Given the description of an element on the screen output the (x, y) to click on. 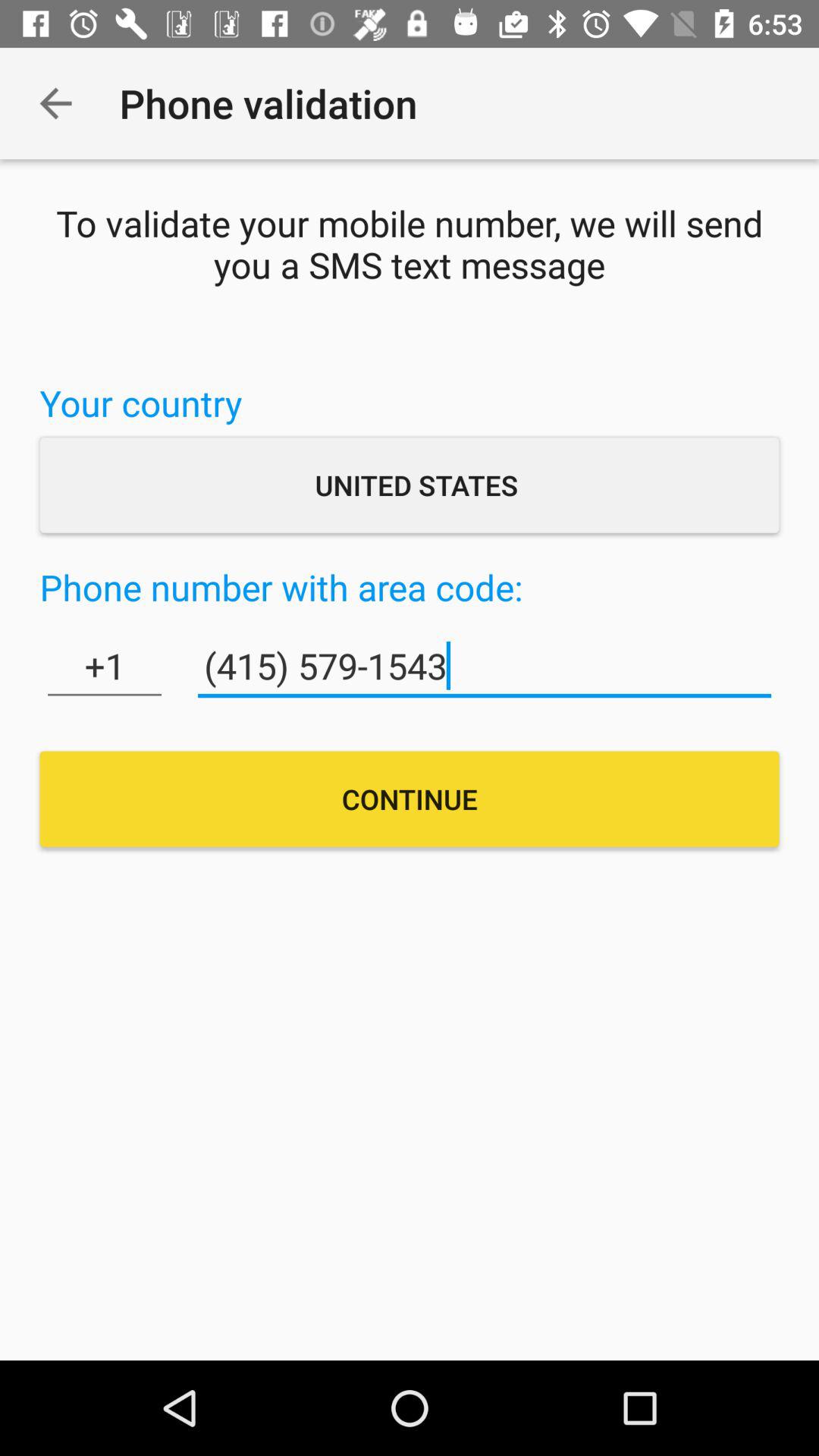
click the united states item (409, 484)
